Given the description of an element on the screen output the (x, y) to click on. 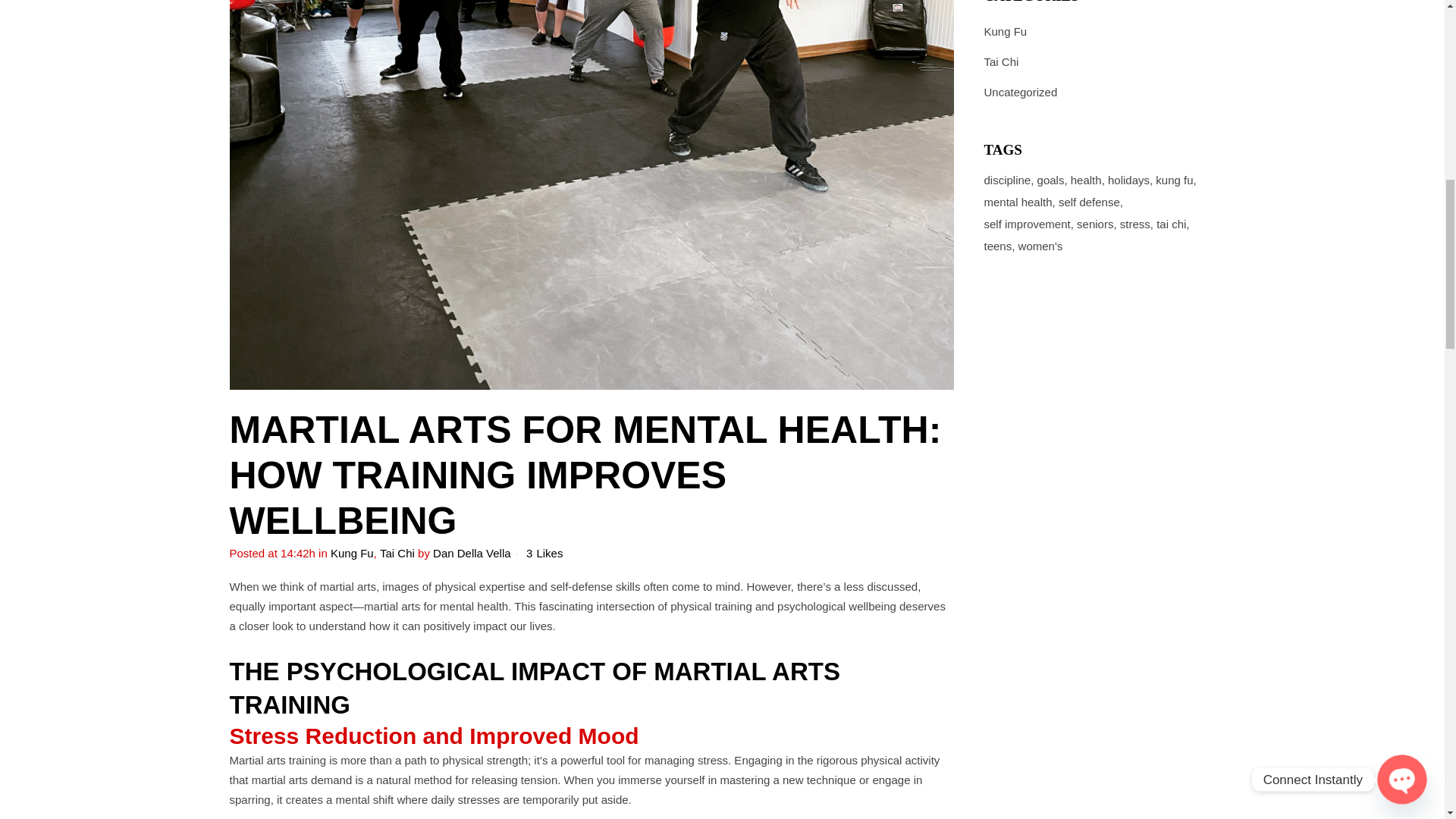
3 Likes (543, 553)
Dan Della Vella (471, 553)
Tai Chi (397, 553)
Like this (543, 553)
Kung Fu (352, 553)
